Given the description of an element on the screen output the (x, y) to click on. 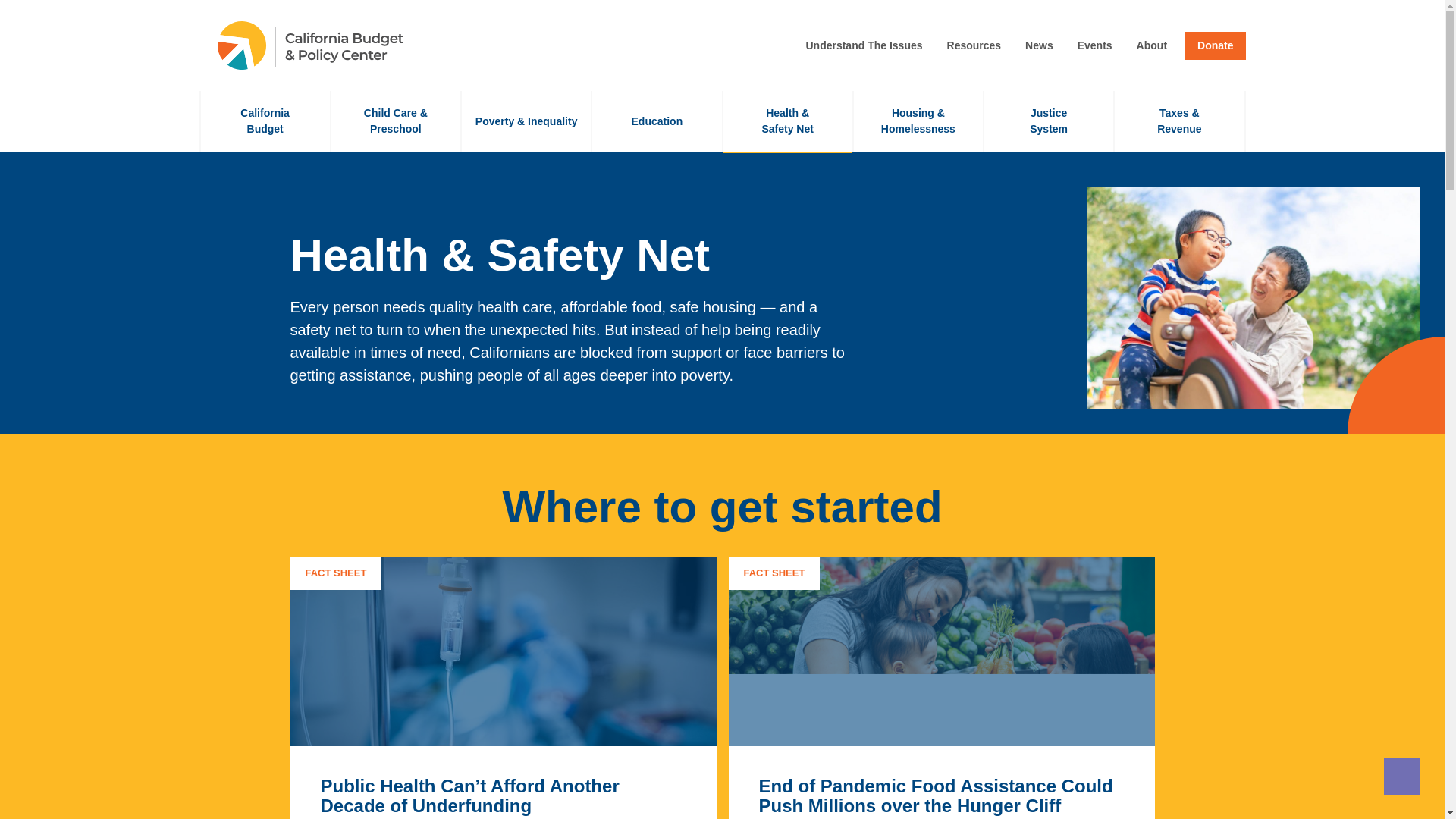
Events (1048, 120)
Understand The Issues (1094, 45)
Education (863, 45)
About (656, 120)
Resources (1152, 45)
Donate (264, 120)
News (973, 45)
